Given the description of an element on the screen output the (x, y) to click on. 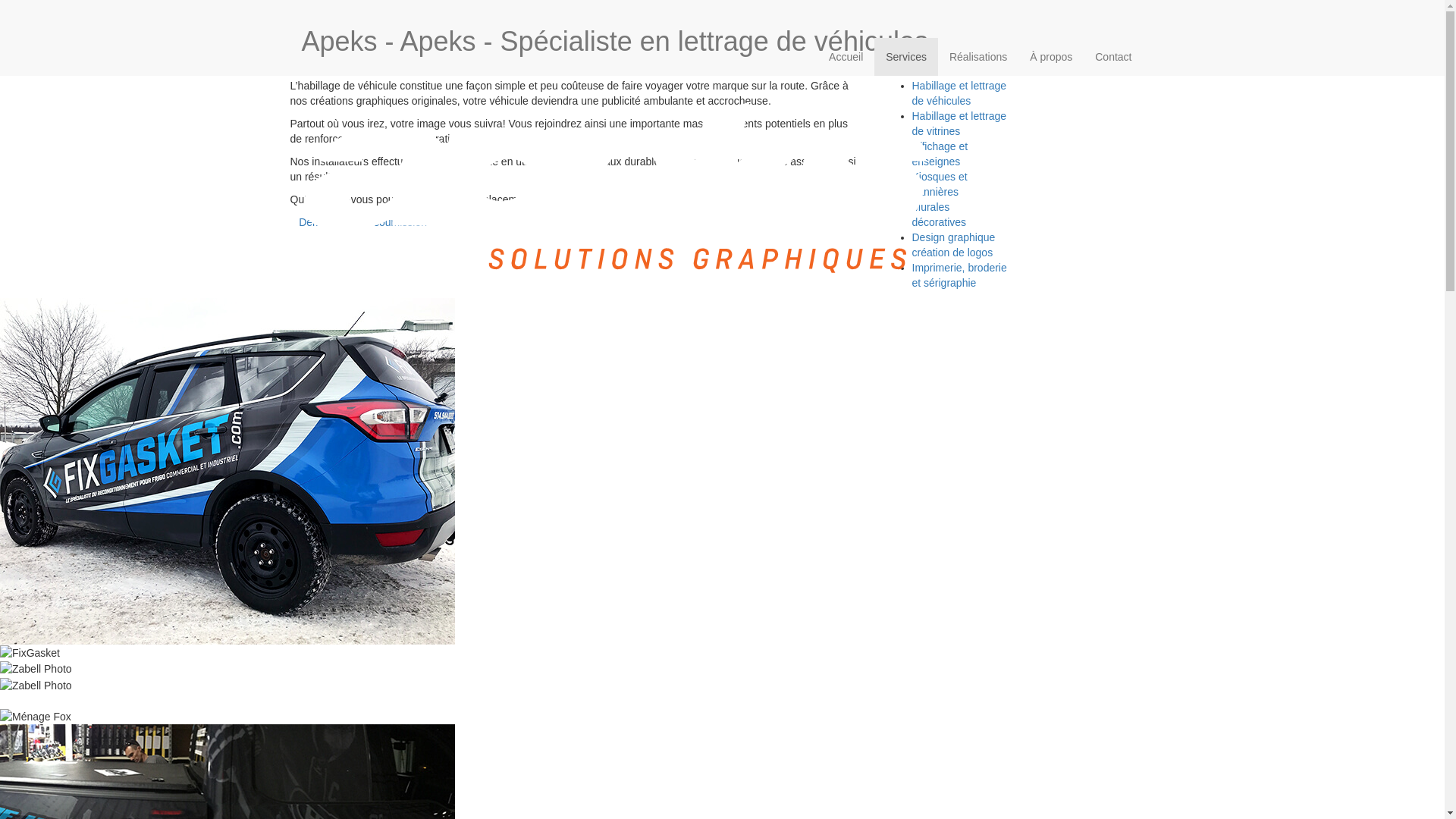
Affichage et
enseignes Element type: text (939, 153)
Services Element type: text (906, 56)
   Demandez une soumission Element type: text (357, 222)
Accueil Element type: text (845, 56)
Contact Element type: text (1112, 56)
Habillage et lettrage
de vitrines Element type: text (958, 123)
